Given the description of an element on the screen output the (x, y) to click on. 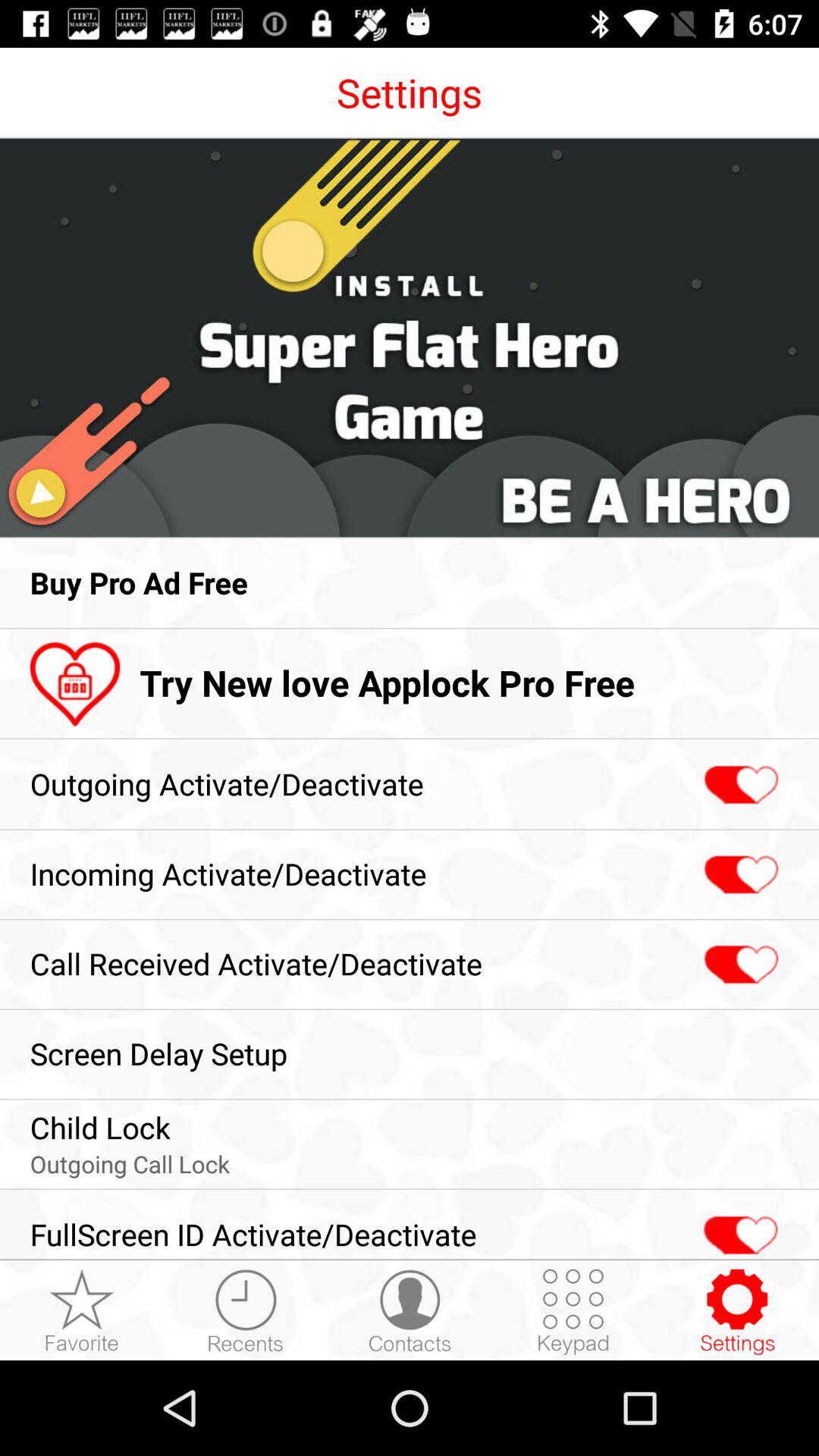
go to the advertisement page (409, 337)
